Given the description of an element on the screen output the (x, y) to click on. 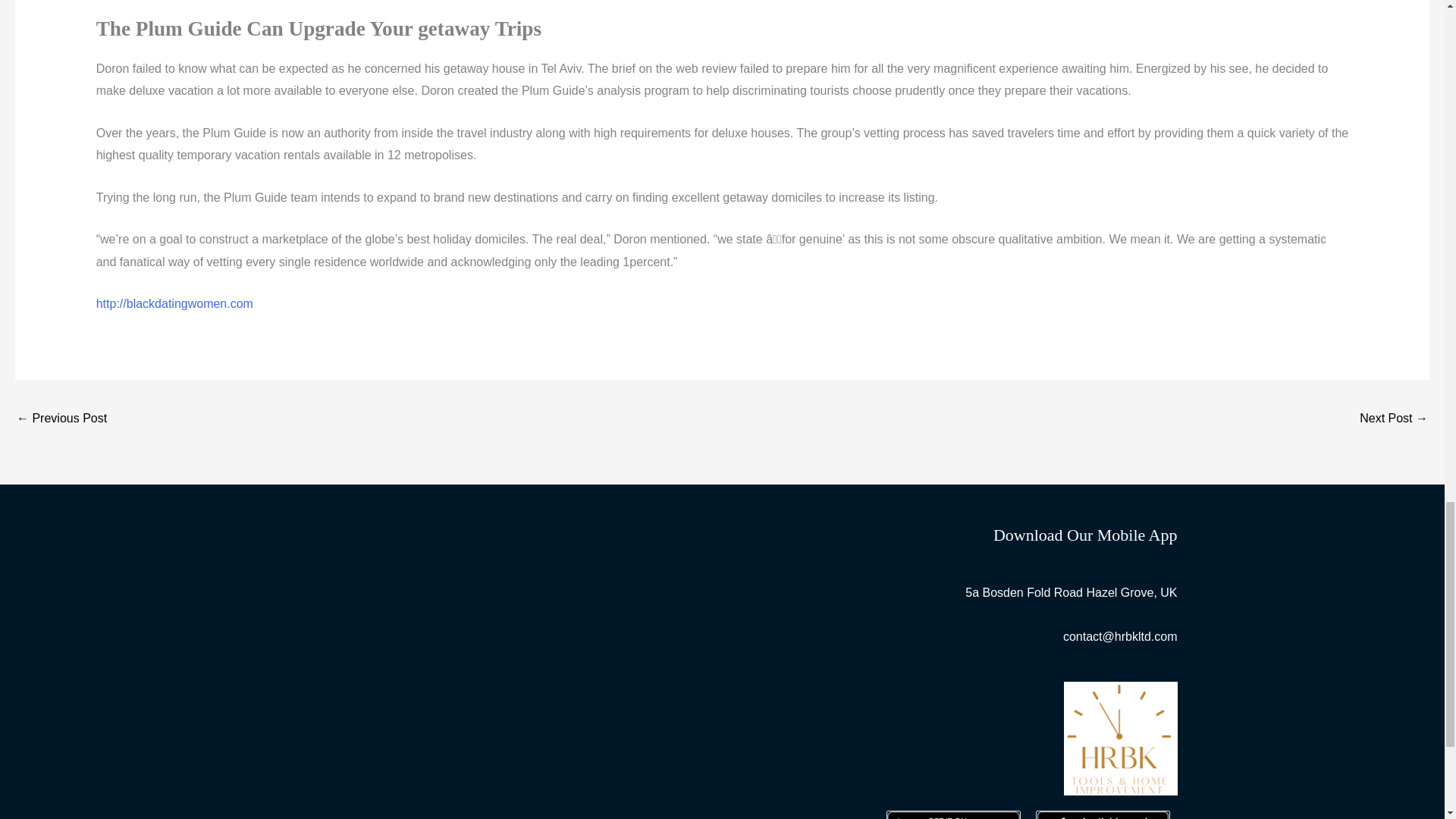
ChristianCupid Assessment 2021 (61, 419)
